Given the description of an element on the screen output the (x, y) to click on. 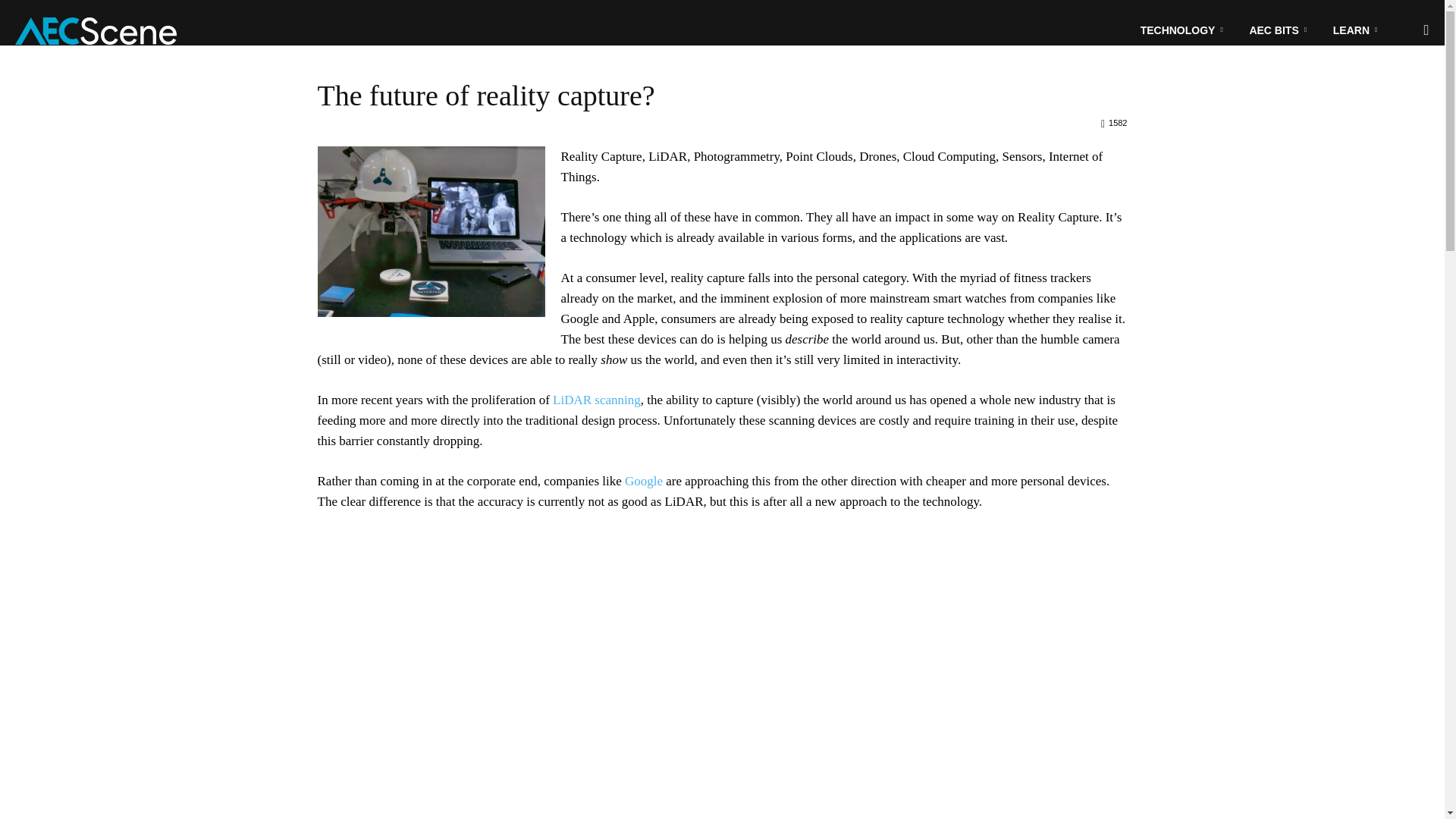
TECHNOLOGY (1184, 30)
AEC Scene (95, 30)
Search (1395, 102)
AEC Scene (95, 30)
